Given the description of an element on the screen output the (x, y) to click on. 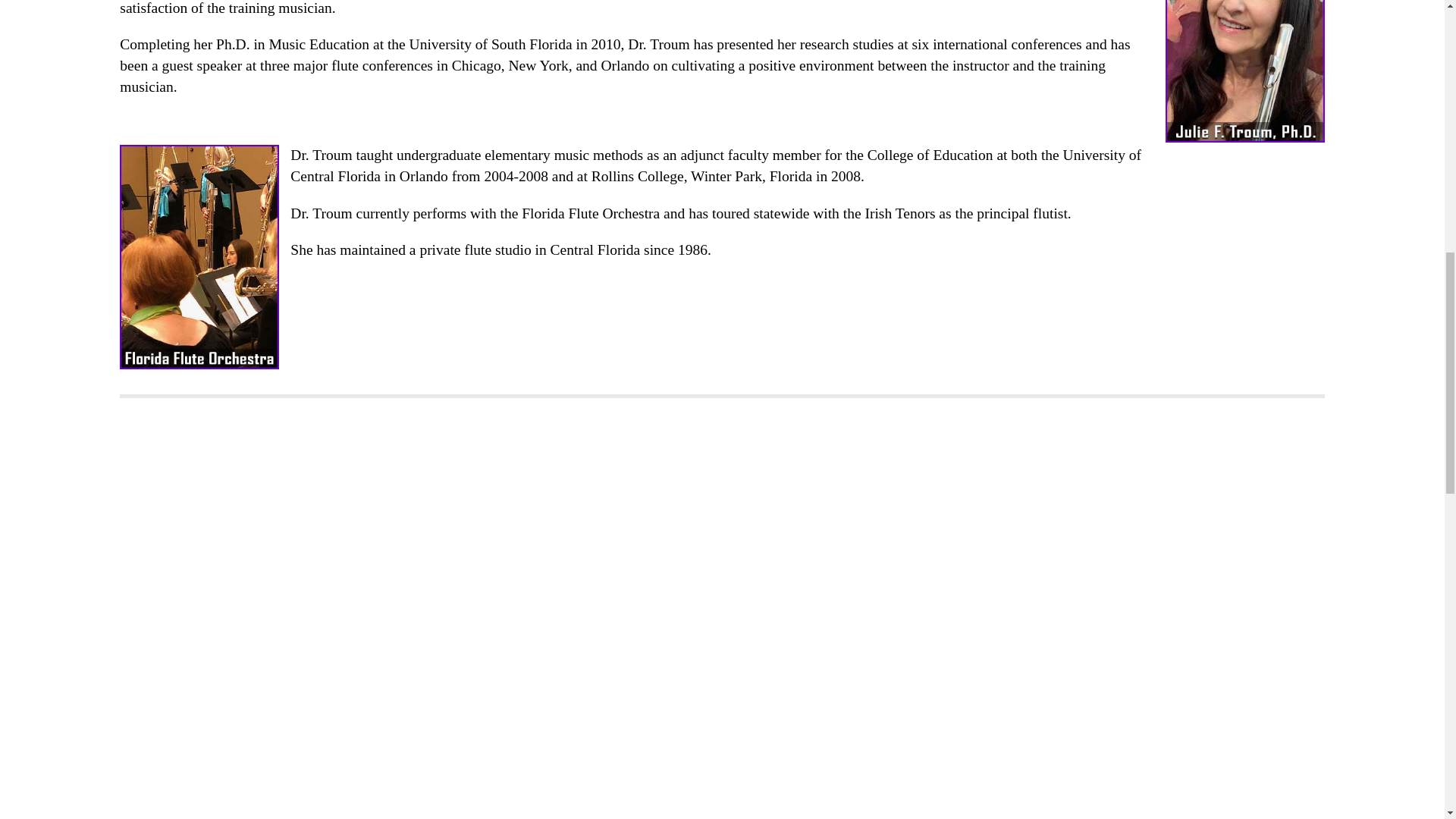
Florida Flute Orchestra (204, 256)
Julie F Troup, Ph.D. (1239, 71)
